Given the description of an element on the screen output the (x, y) to click on. 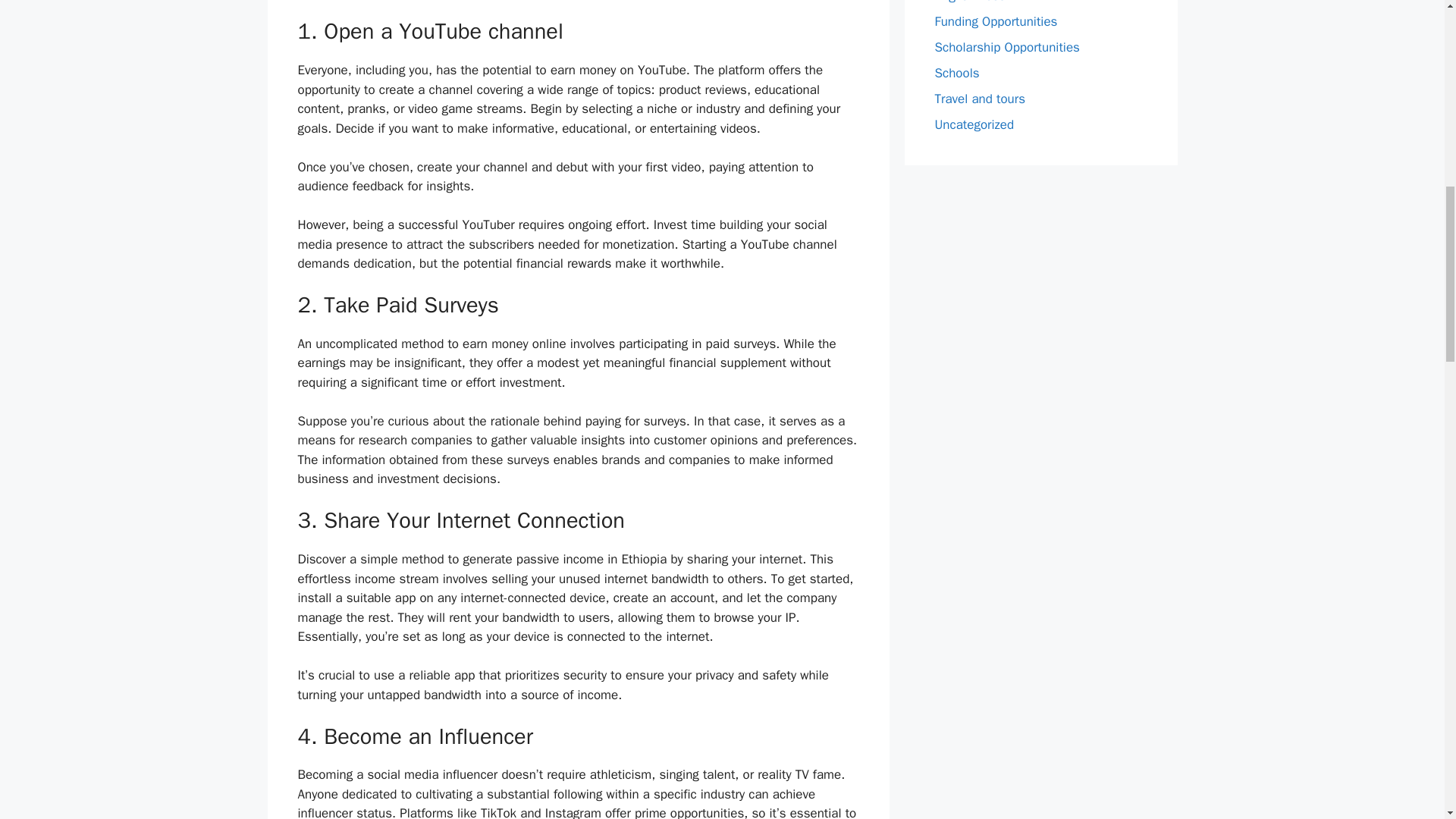
English Test (968, 2)
Uncategorized (973, 124)
Travel and tours (979, 98)
Funding Opportunities (995, 21)
Scholarship Opportunities (1006, 47)
Schools (956, 73)
